Given the description of an element on the screen output the (x, y) to click on. 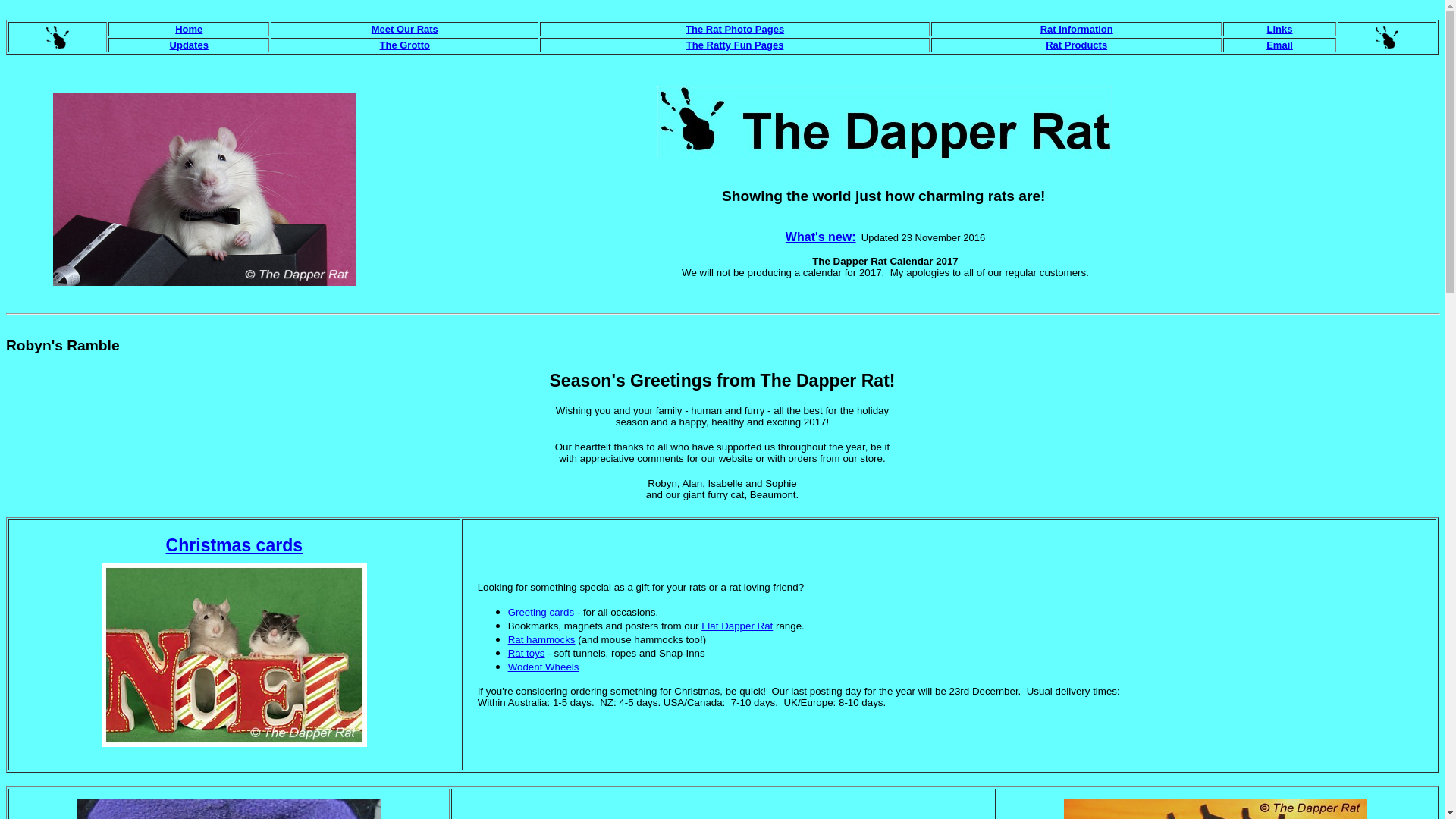
Links Element type: text (1279, 28)
Rat Information Element type: text (1076, 27)
Flat Dapper Rat Element type: text (736, 625)
The Grotto Element type: text (404, 44)
Email Element type: text (1279, 44)
Meet Our Rats Element type: text (404, 28)
Updates Element type: text (188, 44)
Greeting cards Element type: text (541, 612)
The Rat Photo Pages Element type: text (734, 28)
What's new: Element type: text (820, 236)
Wodent Wheels Element type: text (543, 666)
The Ratty Fun Pages Element type: text (735, 44)
Rat Products Element type: text (1076, 44)
Rat toys Element type: text (526, 652)
Home Element type: text (188, 28)
Christmas cards Element type: text (234, 545)
Rat hammocks Element type: text (541, 639)
